Given the description of an element on the screen output the (x, y) to click on. 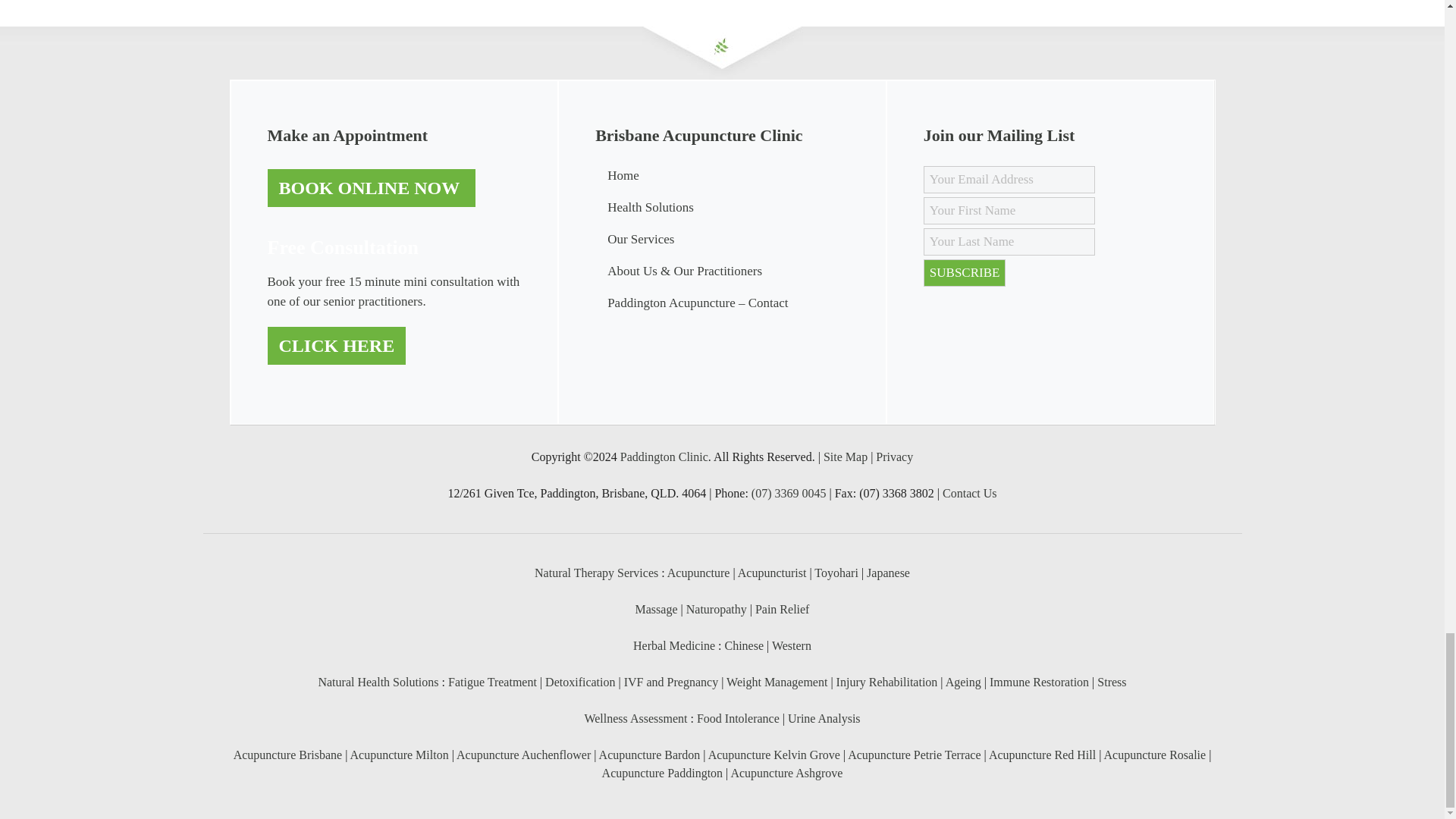
Subscribe (964, 272)
